Given the description of an element on the screen output the (x, y) to click on. 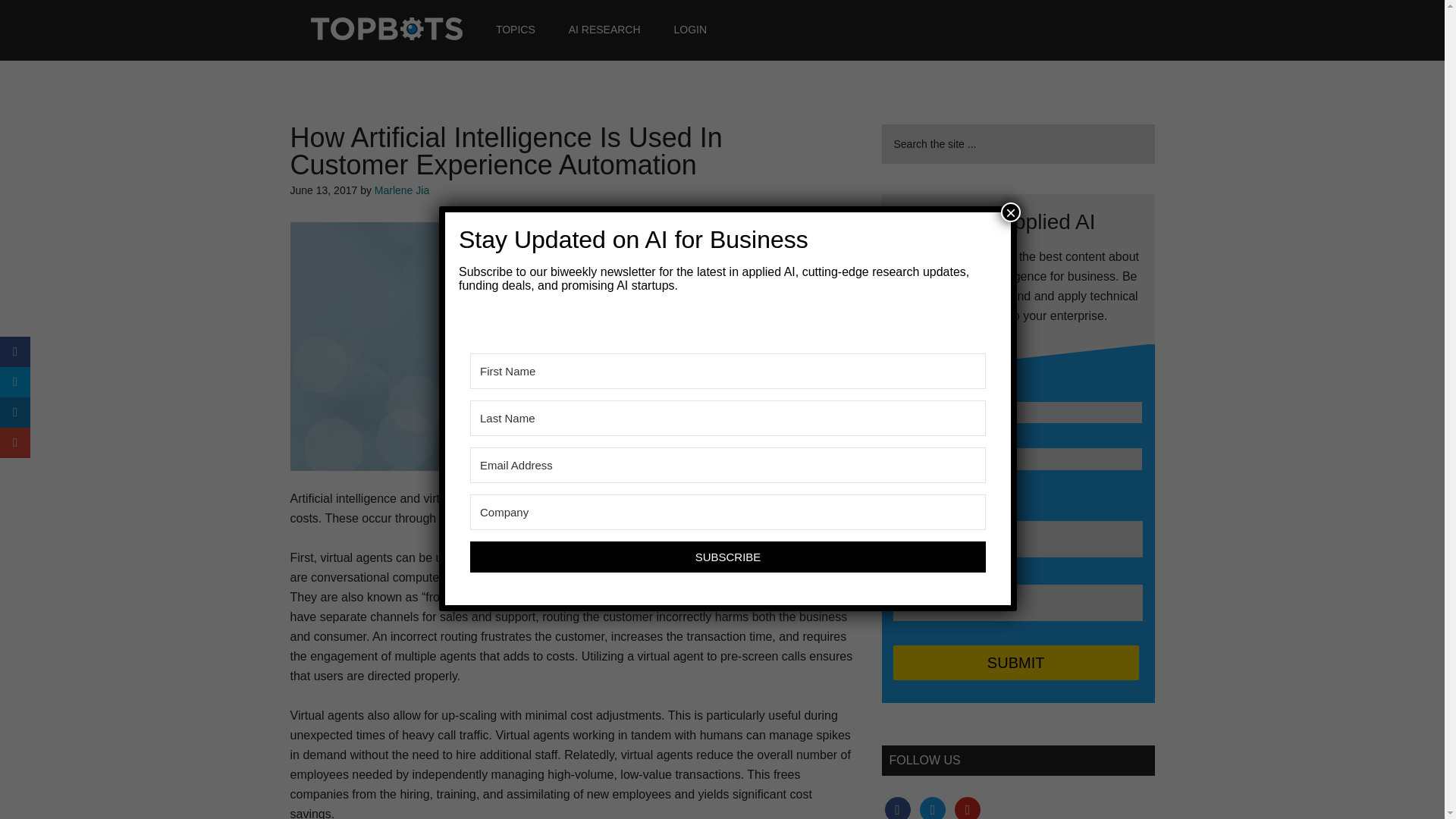
TOPICS (515, 29)
Submit (1015, 662)
Twitter (932, 808)
Submit (1015, 662)
LOGIN (690, 29)
facebook (896, 808)
AI RESEARCH (604, 29)
youtube (967, 808)
